Given the description of an element on the screen output the (x, y) to click on. 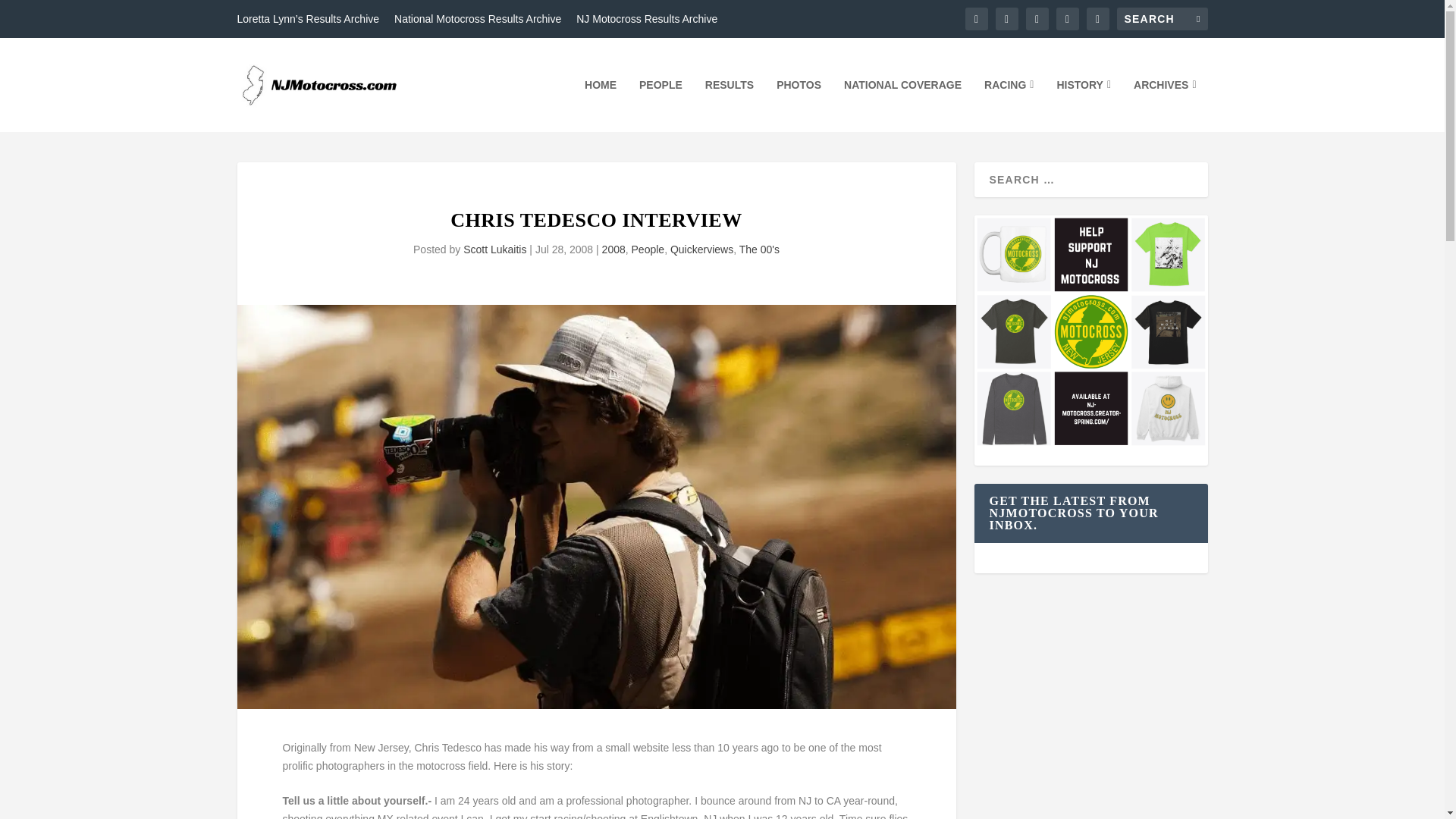
RESULTS (729, 104)
HISTORY (1083, 104)
PEOPLE (660, 104)
National Motocross Results Archive (477, 18)
NJ Motocross Results Archive (646, 18)
PHOTOS (798, 104)
Posts by Scott Lukaitis (494, 249)
People (648, 249)
The 00's (758, 249)
2008 (614, 249)
HOME (600, 104)
Scott Lukaitis (494, 249)
Quickerviews (701, 249)
NATIONAL COVERAGE (902, 104)
RACING (1008, 104)
